Given the description of an element on the screen output the (x, y) to click on. 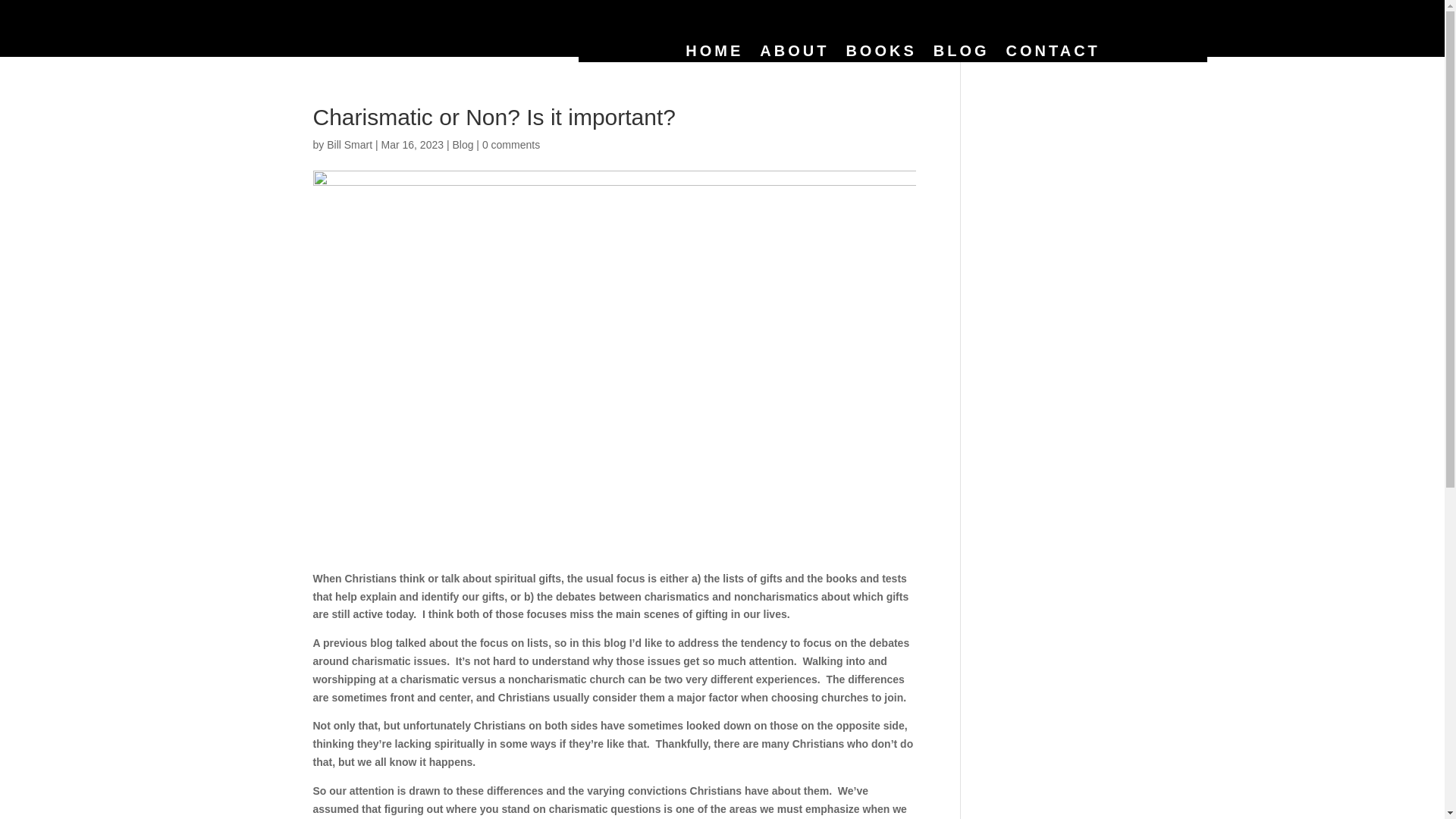
Bill Smart (349, 144)
BOOKS (880, 53)
ABOUT (794, 53)
Blog (462, 144)
HOME (713, 53)
Posts by Bill Smart (349, 144)
CONTACT (1053, 53)
BLOG (961, 53)
0 comments (510, 144)
